Given the description of an element on the screen output the (x, y) to click on. 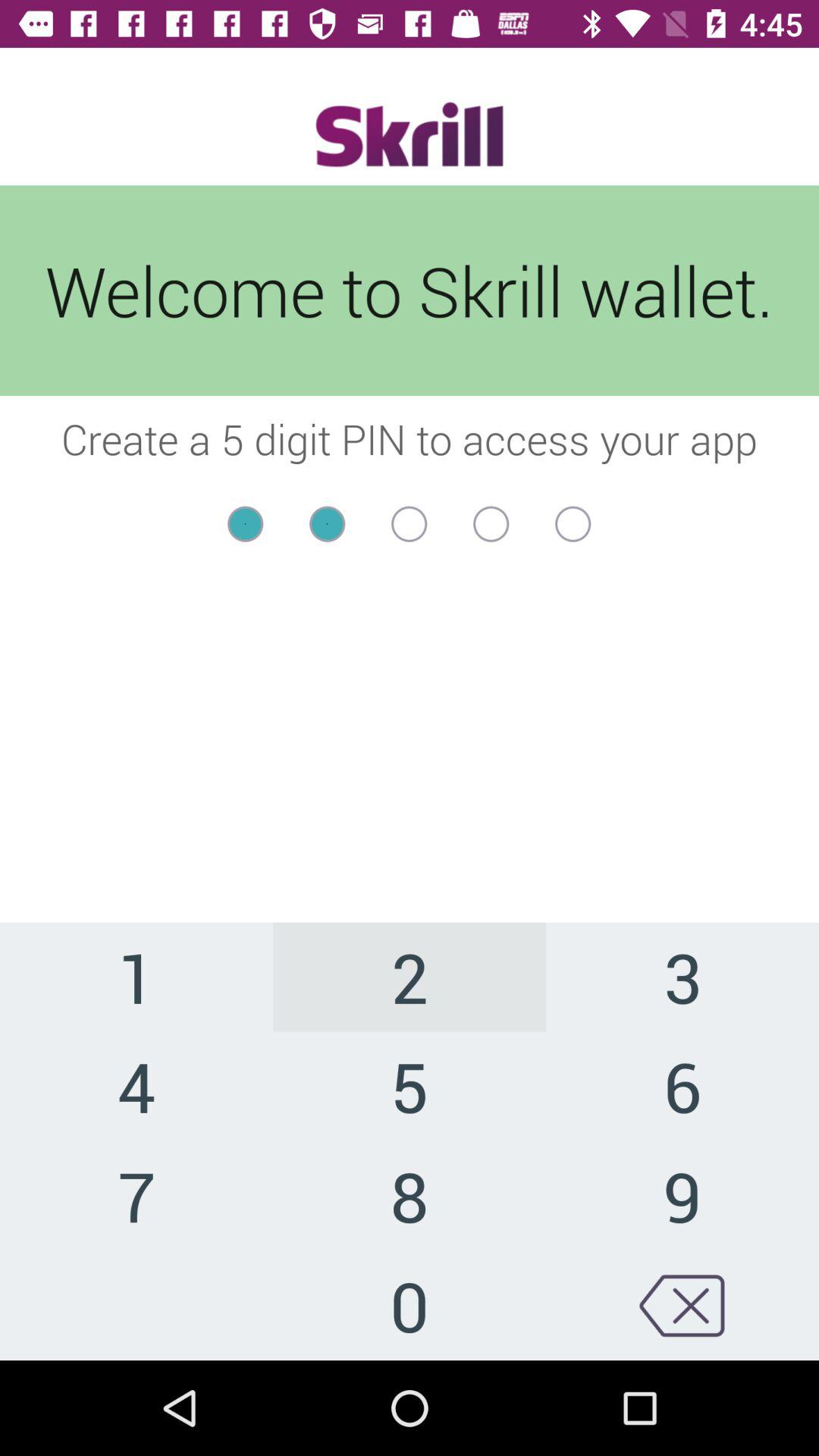
tap the item below 5 item (682, 1195)
